Given the description of an element on the screen output the (x, y) to click on. 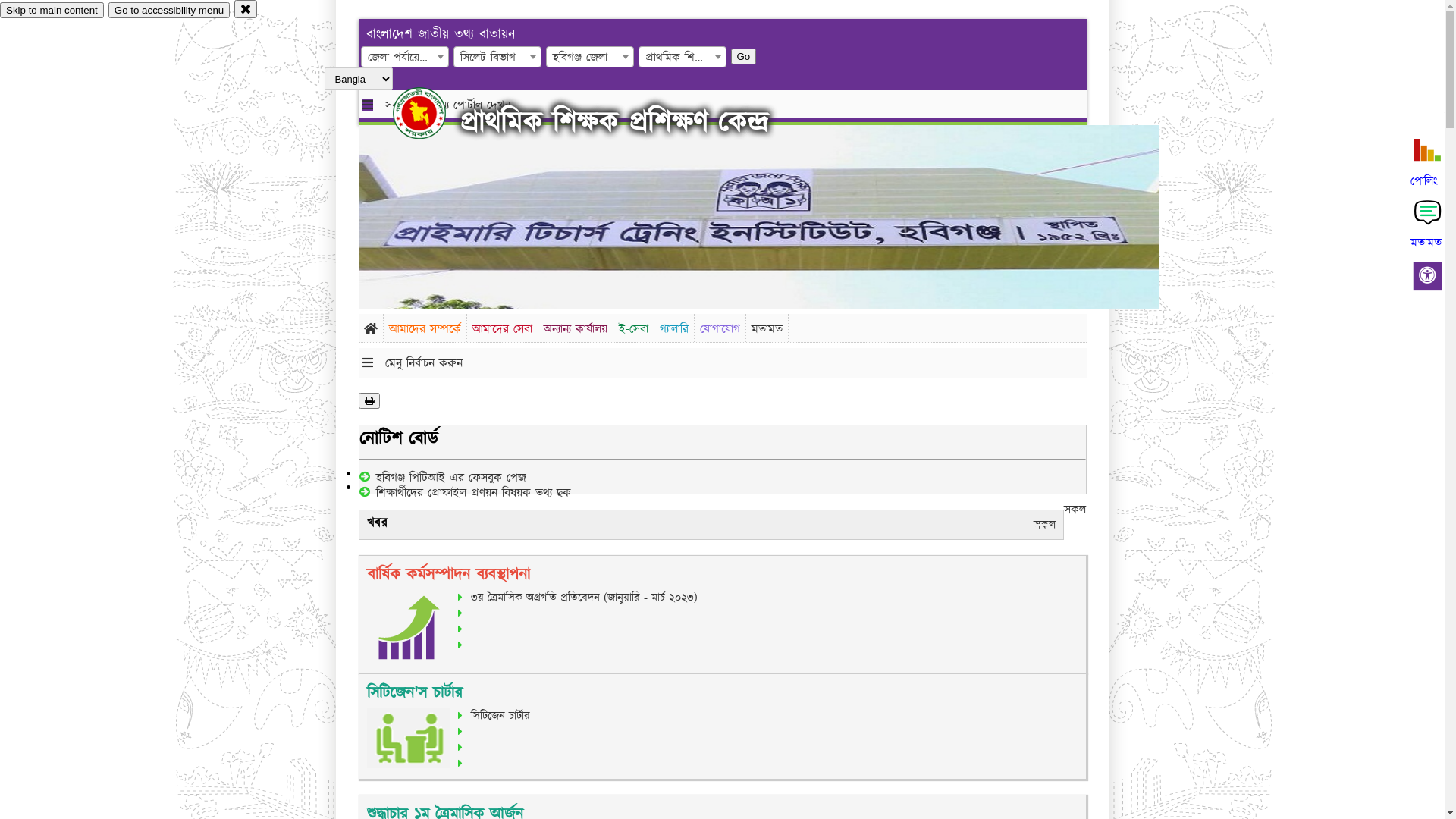
Skip to main content Element type: text (51, 10)

                
             Element type: hover (431, 112)
Go to accessibility menu Element type: text (168, 10)
Go Element type: text (743, 56)
close Element type: hover (245, 9)
